Given the description of an element on the screen output the (x, y) to click on. 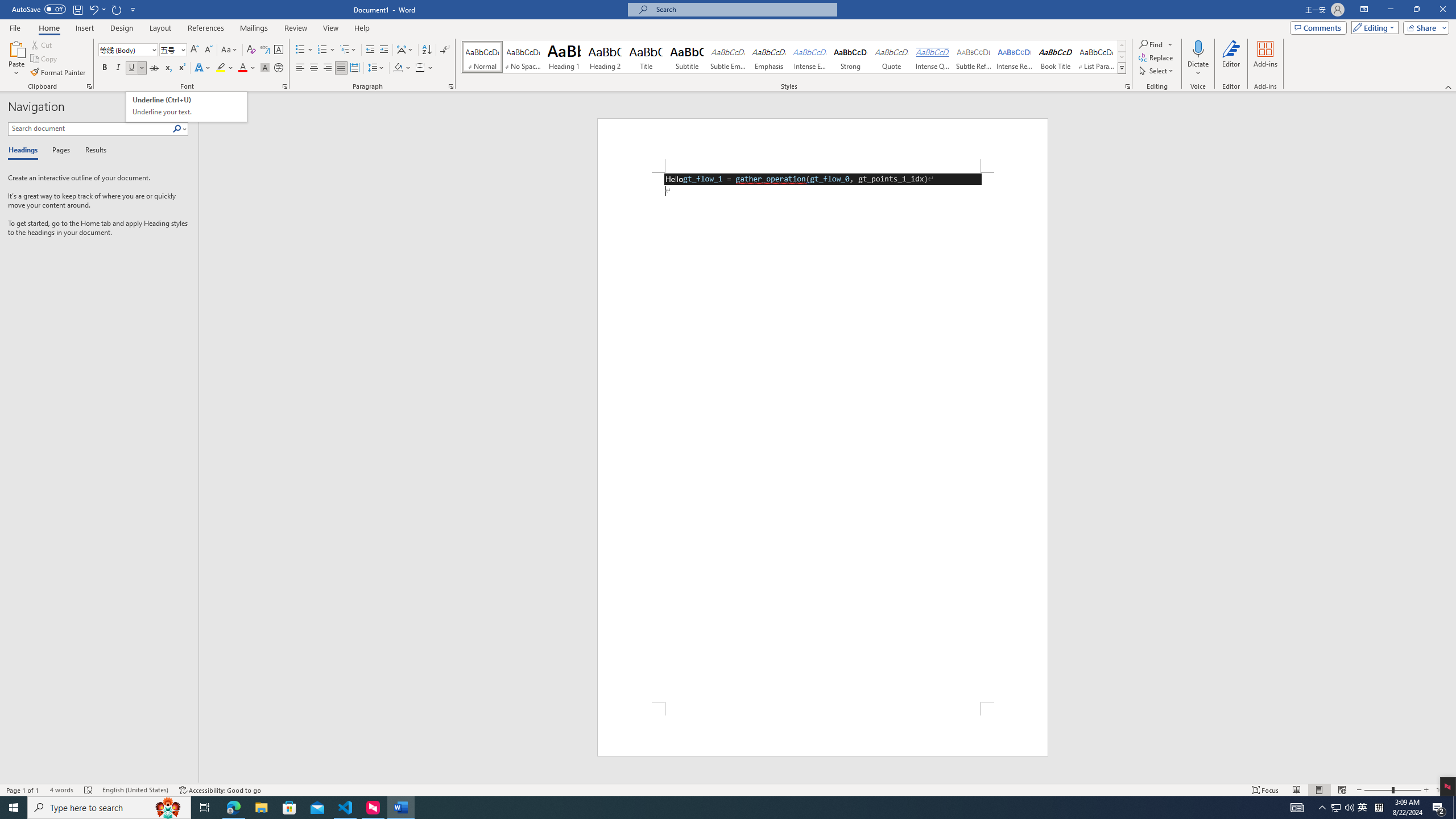
Subtle Emphasis (727, 56)
Intense Reference (1014, 56)
